Given the description of an element on the screen output the (x, y) to click on. 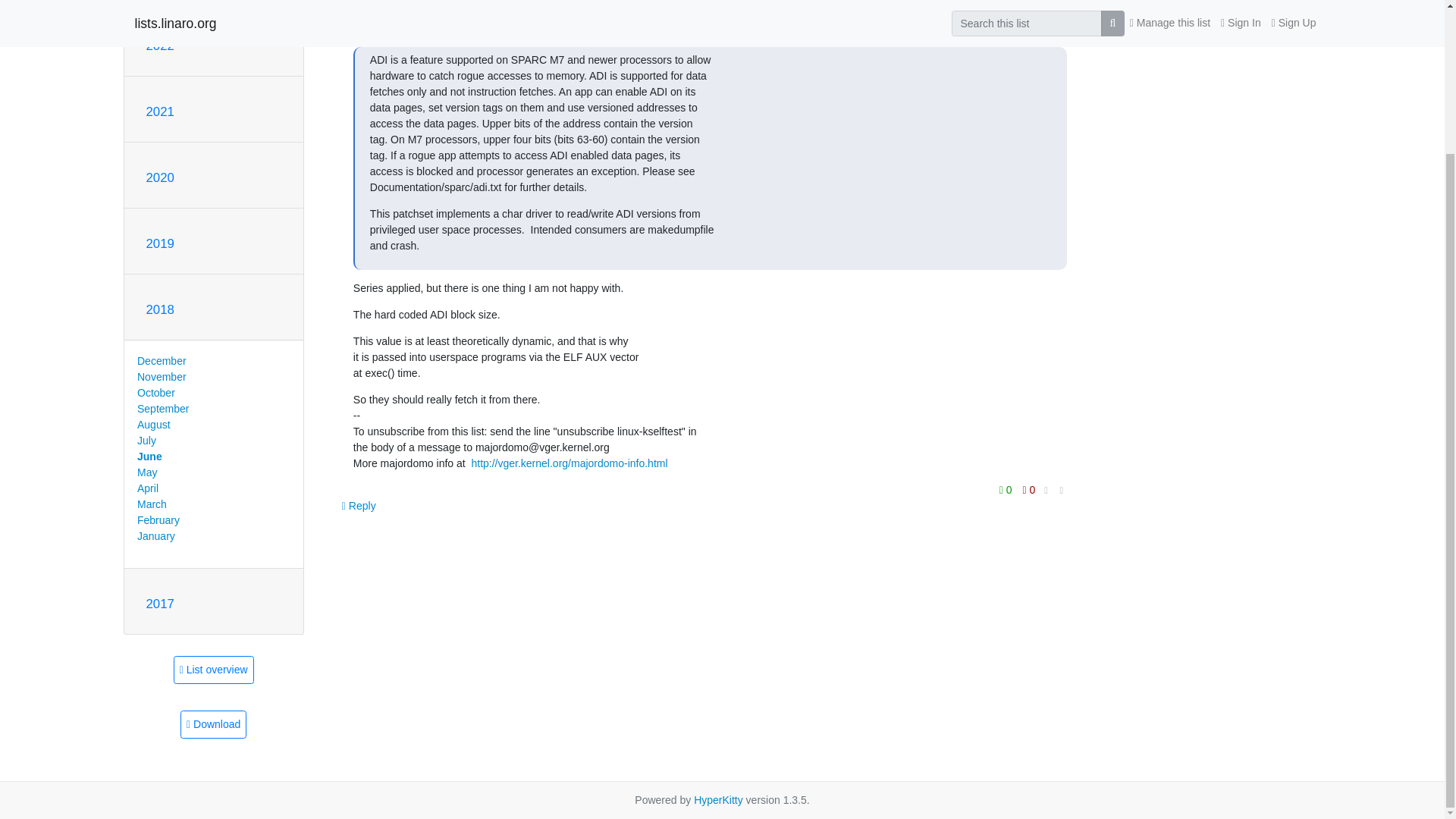
You must be logged-in to vote. (1007, 489)
Sign in to reply online (359, 505)
2022 (159, 45)
This message in gzipped mbox format (213, 724)
You must be logged-in to vote. (1029, 489)
